Given the description of an element on the screen output the (x, y) to click on. 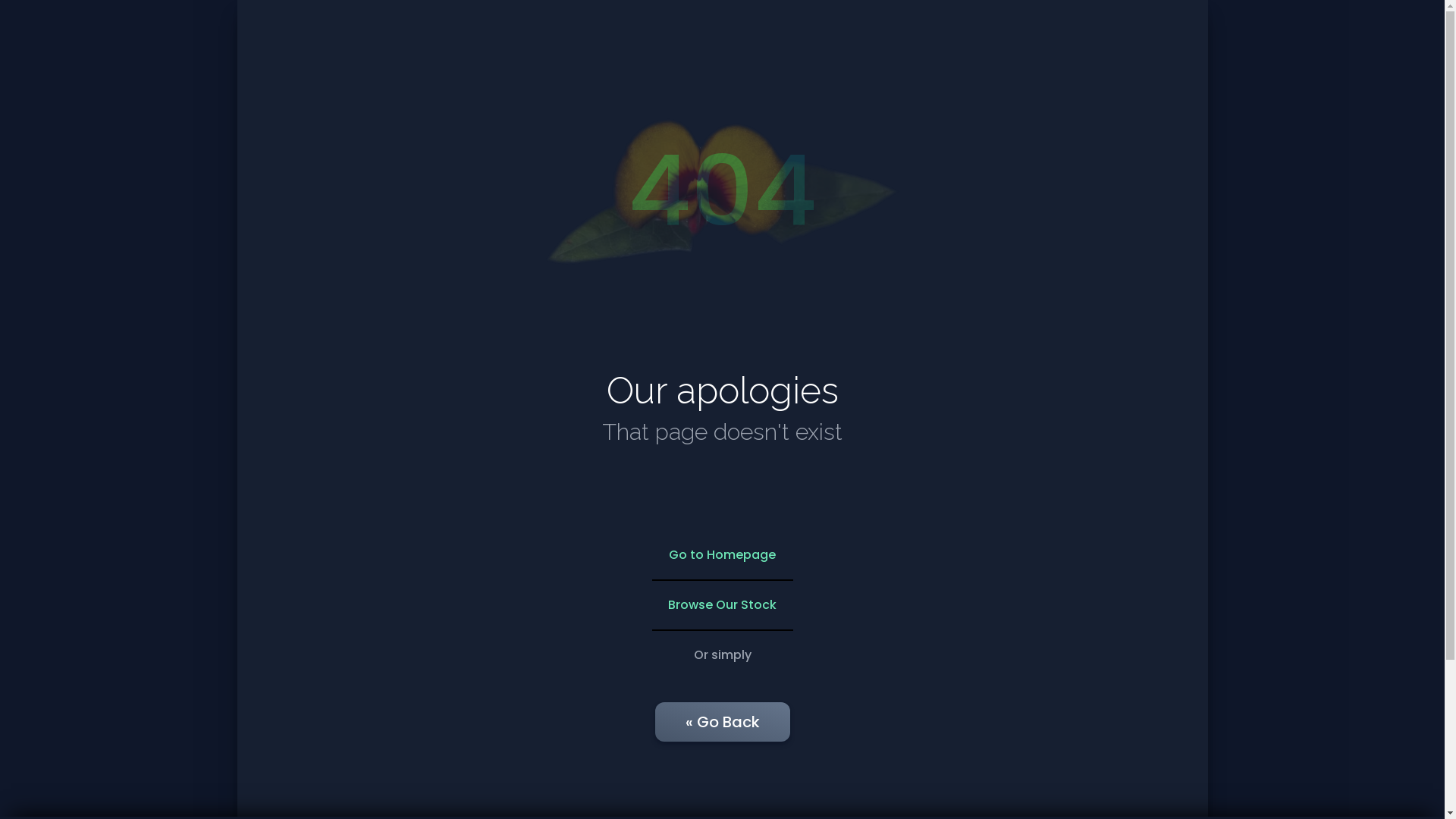
Browse Our Stock Element type: text (722, 605)
Go to Homepage Element type: text (722, 555)
